Given the description of an element on the screen output the (x, y) to click on. 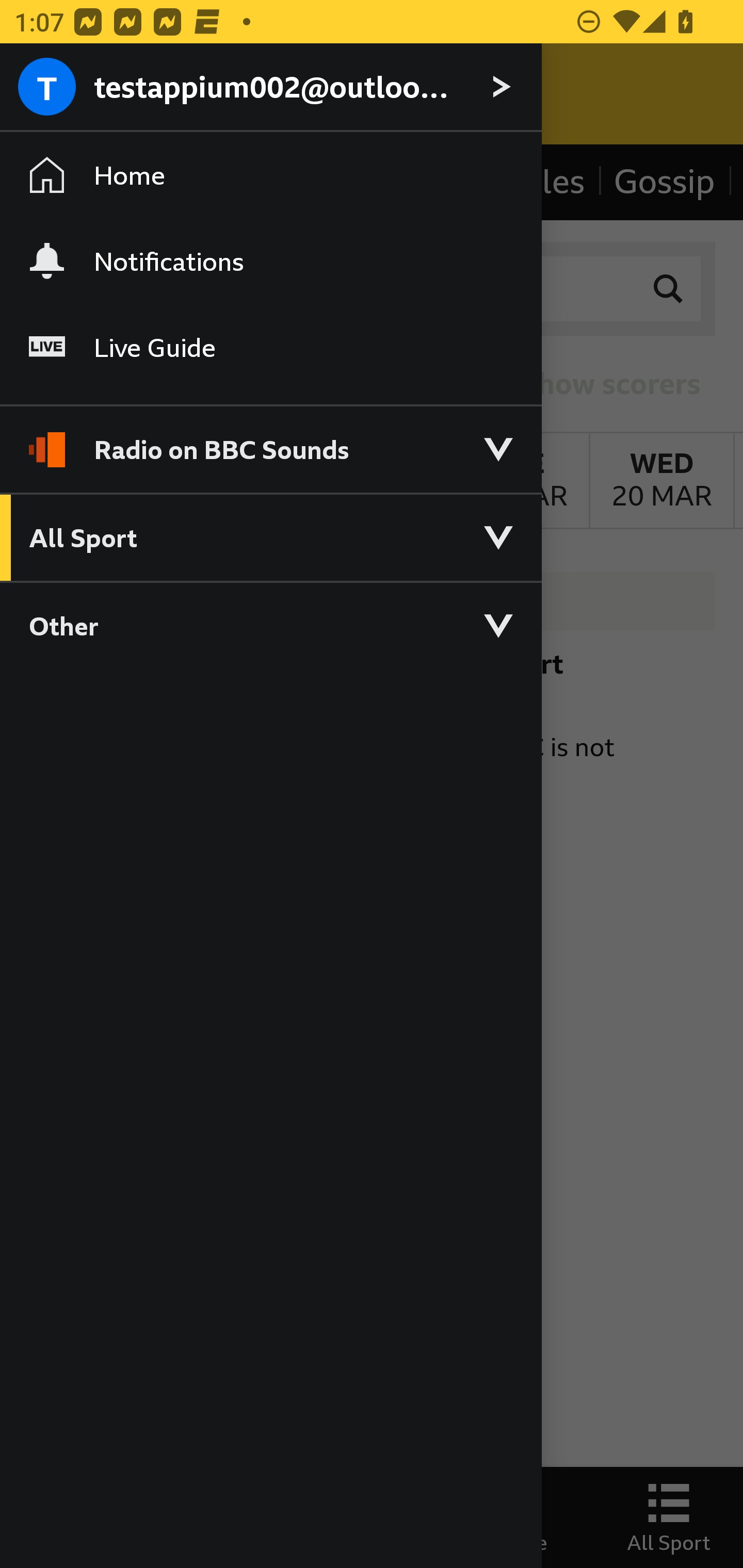
Close Menu (50, 93)
testappium002@outlook.com (270, 87)
Home (270, 174)
Notifications (270, 260)
Live Guide (270, 347)
Radio on BBC Sounds (270, 441)
All Sport (270, 536)
Other (270, 624)
